Given the description of an element on the screen output the (x, y) to click on. 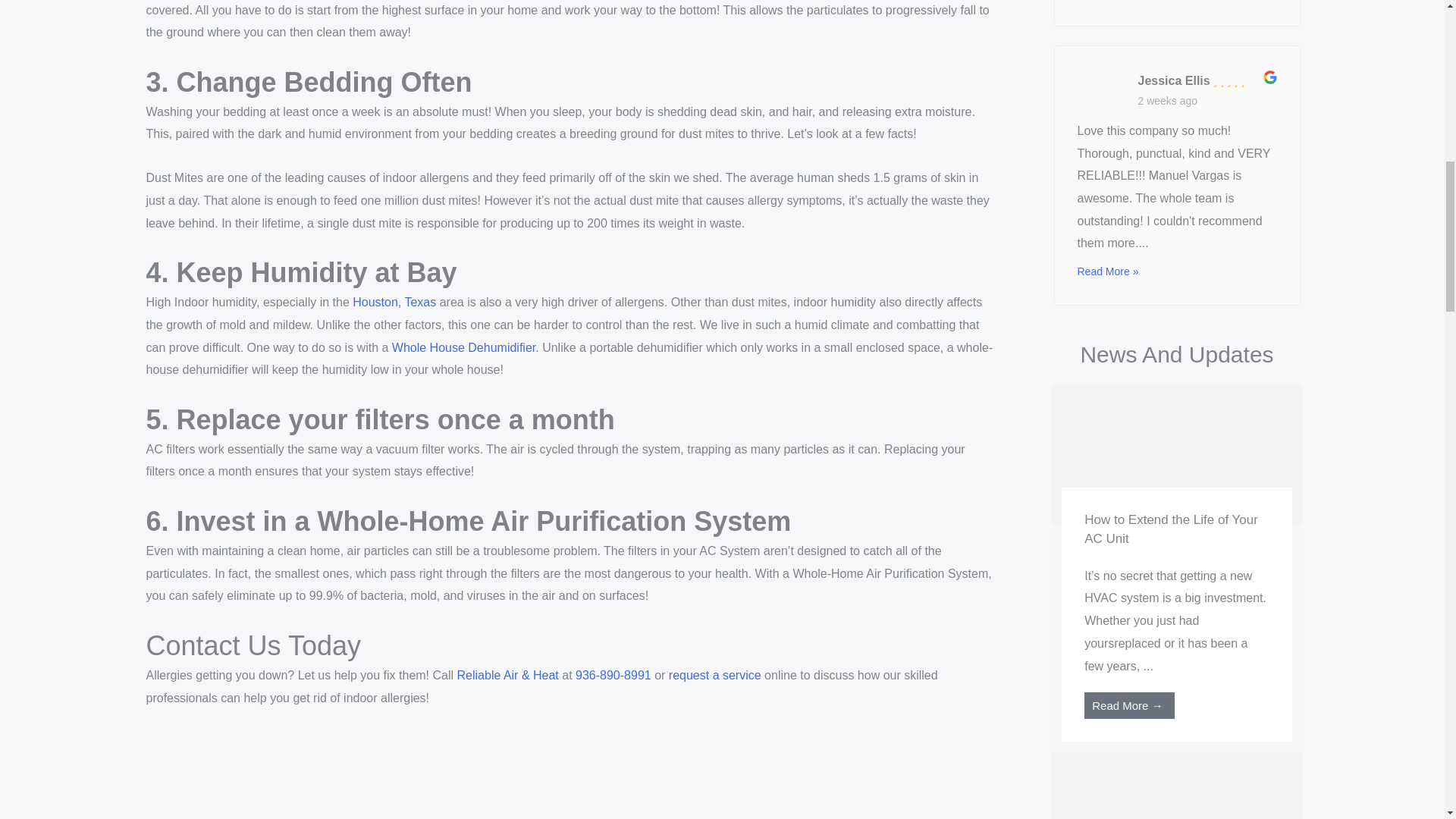
Houston, Texas (393, 301)
request a service (714, 675)
How to Extend the Life of Your AC Unit (1176, 453)
Whole House Dehumidifier (463, 347)
936-890-8991 (612, 675)
